Given the description of an element on the screen output the (x, y) to click on. 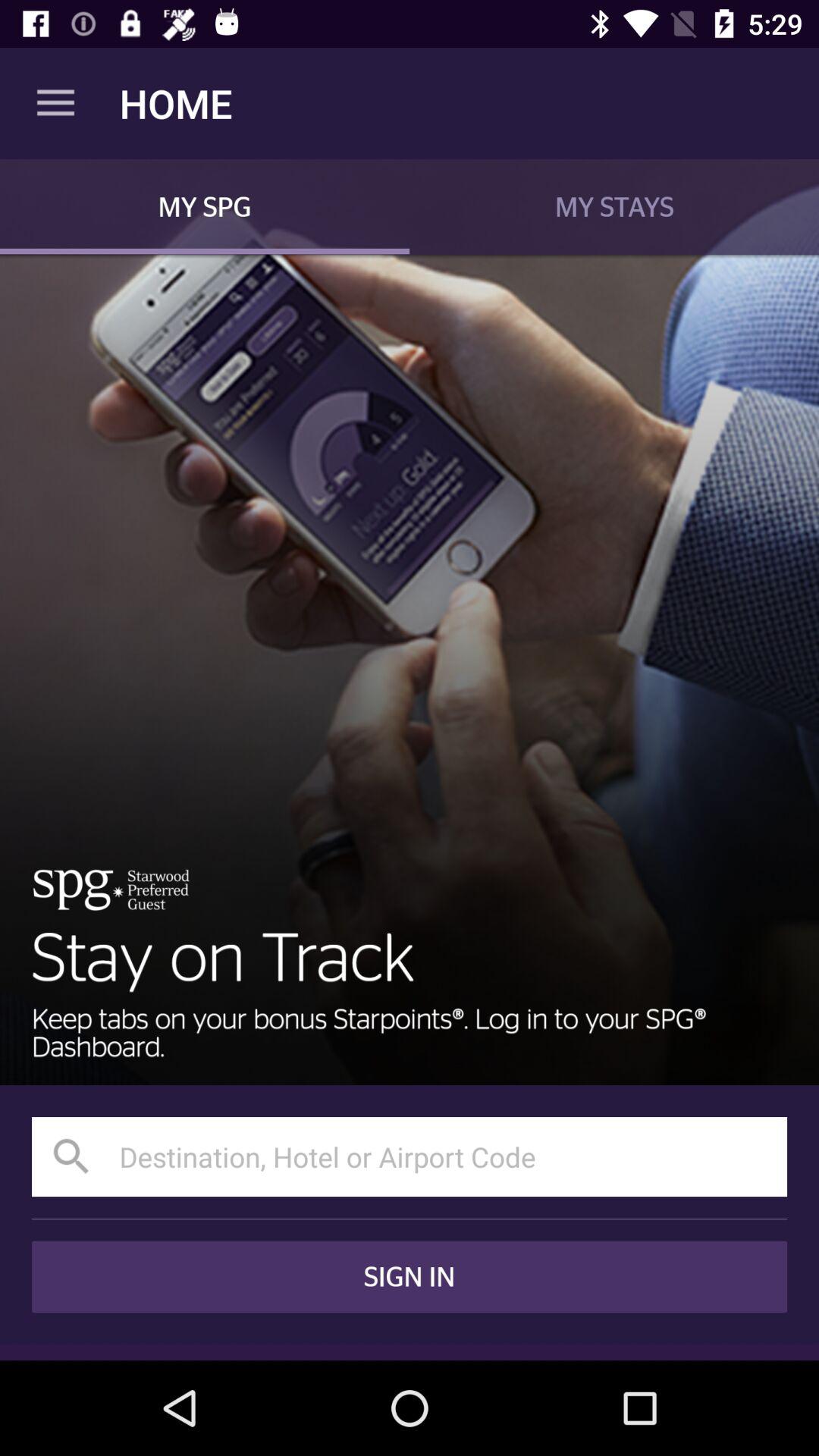
launch the sign in (409, 1276)
